Given the description of an element on the screen output the (x, y) to click on. 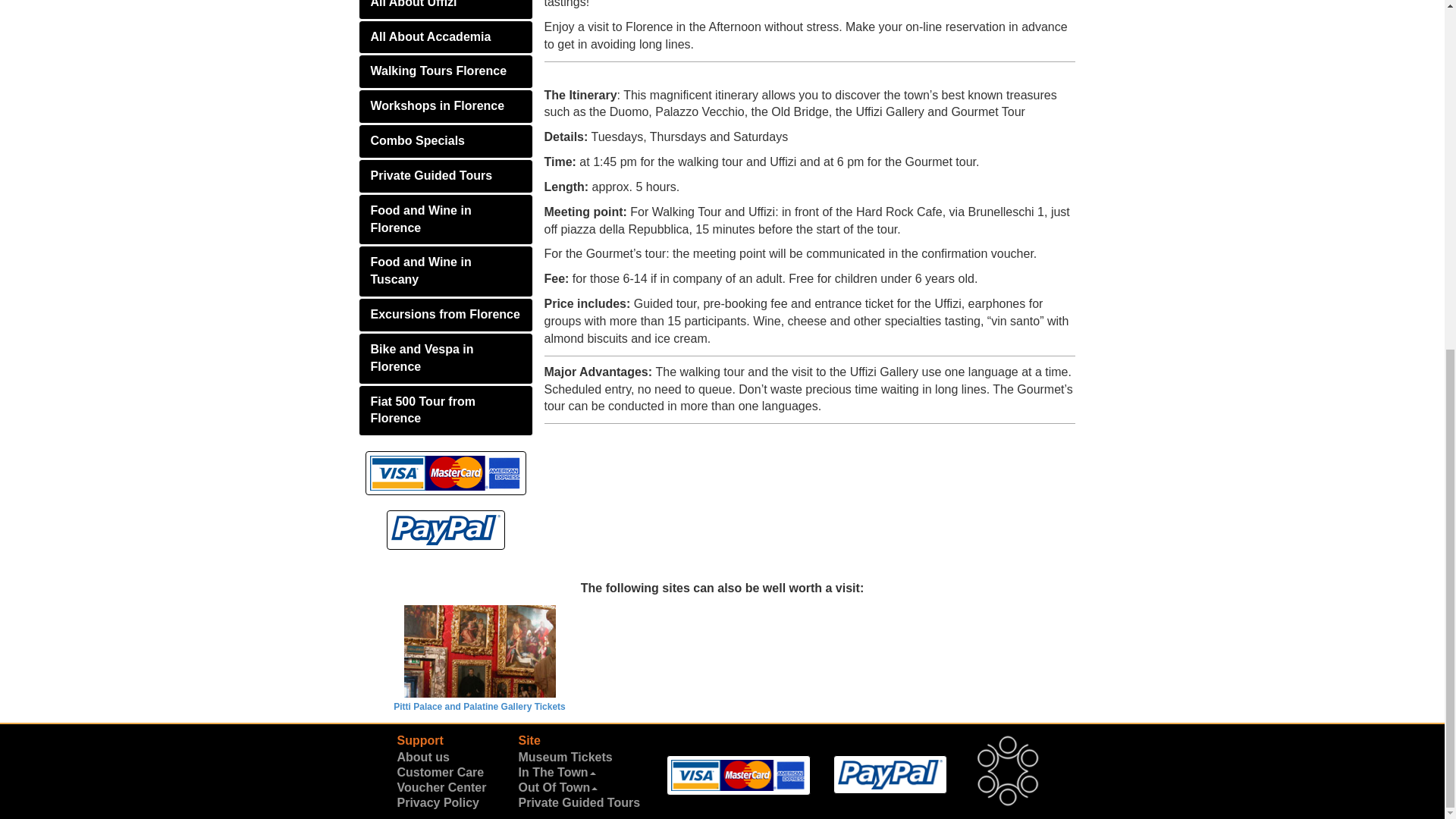
Food and Wine in Florence (445, 219)
All About Accademia (445, 37)
Food and Wine in Tuscany (445, 271)
All About Uffizi (445, 9)
Bike and Vespa in Florence (445, 358)
Private Guided Tours (445, 175)
Pitti Palace and Palatine Gallery Tickets (479, 658)
Workshops in Florence (445, 106)
Fiat 500 Tour from Florence (445, 410)
Home (1007, 770)
